Given the description of an element on the screen output the (x, y) to click on. 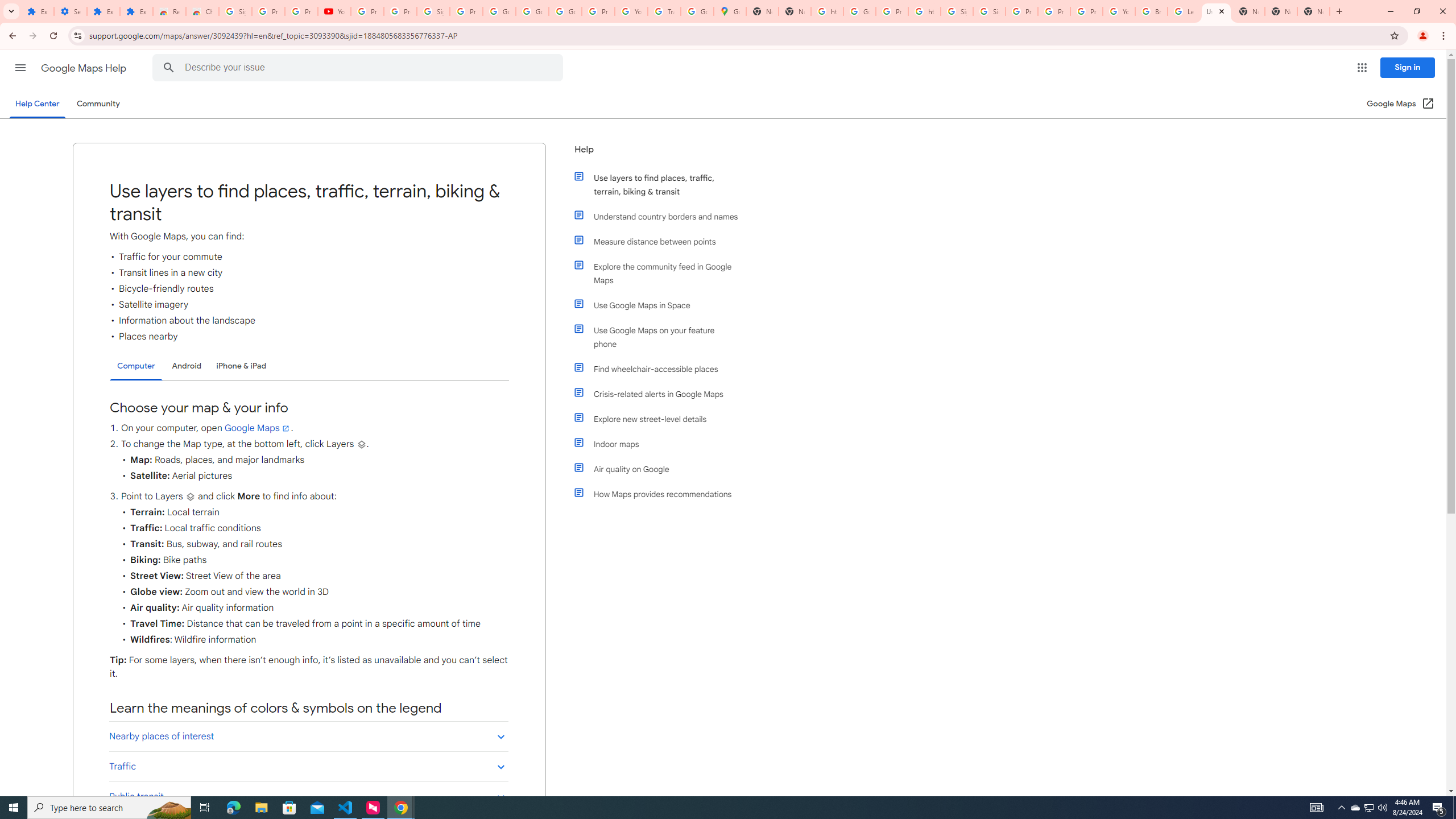
Reviews: Helix Fruit Jump Arcade Game (169, 11)
Indoor maps (661, 444)
Public transit (308, 796)
Describe your issue (359, 67)
Privacy Help Center - Policies Help (1053, 11)
Traffic (308, 766)
Explore new street-level details (661, 419)
Google Maps (Open in a new window) (1400, 103)
